Given the description of an element on the screen output the (x, y) to click on. 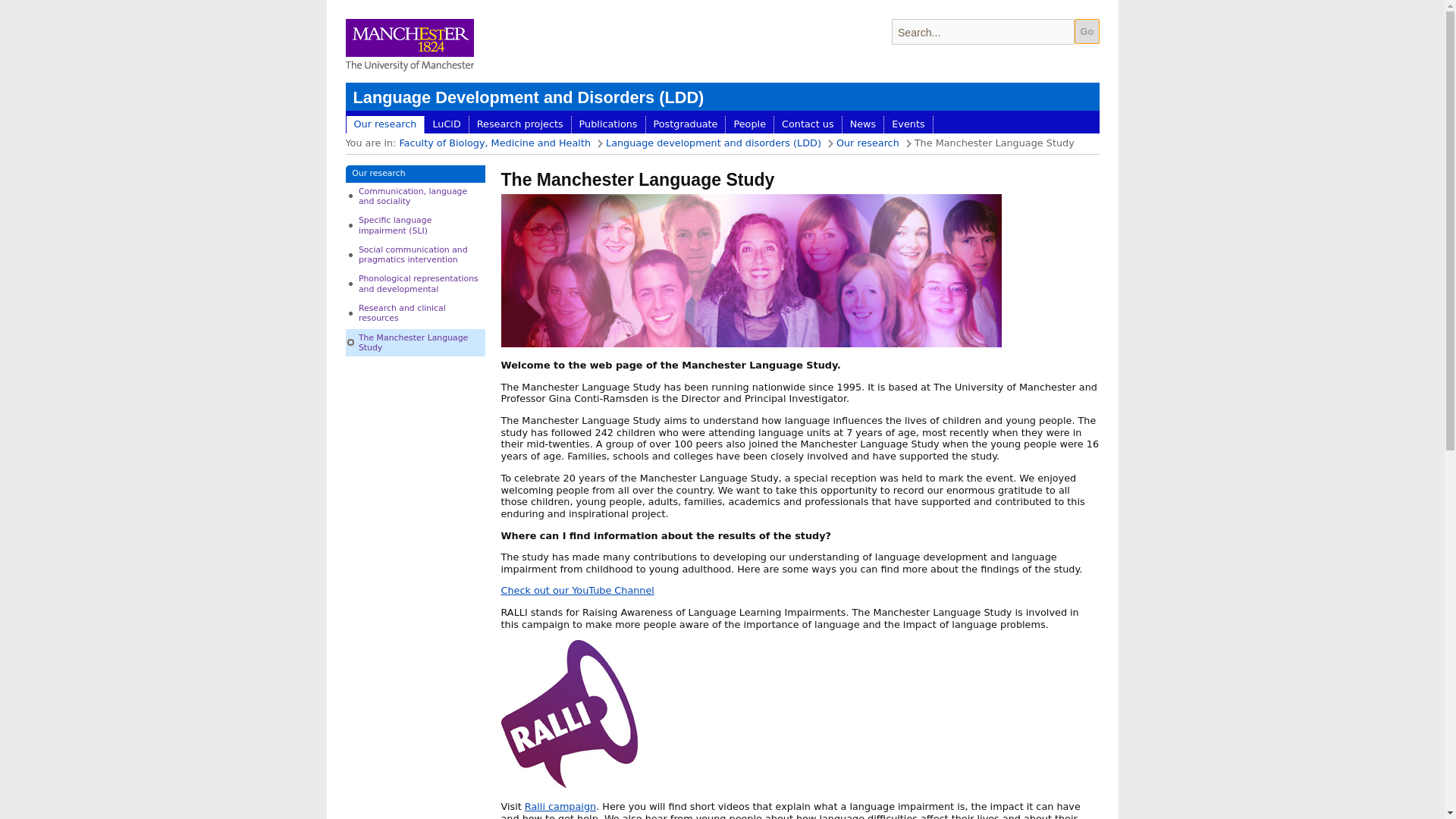
Search... (982, 31)
Events (907, 125)
The Manchester Language Study (415, 342)
Lucid (446, 125)
Contact us (807, 125)
Publications (608, 125)
Research and clinical resources (415, 313)
Research projects (519, 125)
Our research (415, 173)
Go (1086, 31)
Postgraduate (685, 125)
People (749, 125)
Social communication and pragmatics intervention research (415, 253)
Postgraduate opportunities (685, 125)
